Given the description of an element on the screen output the (x, y) to click on. 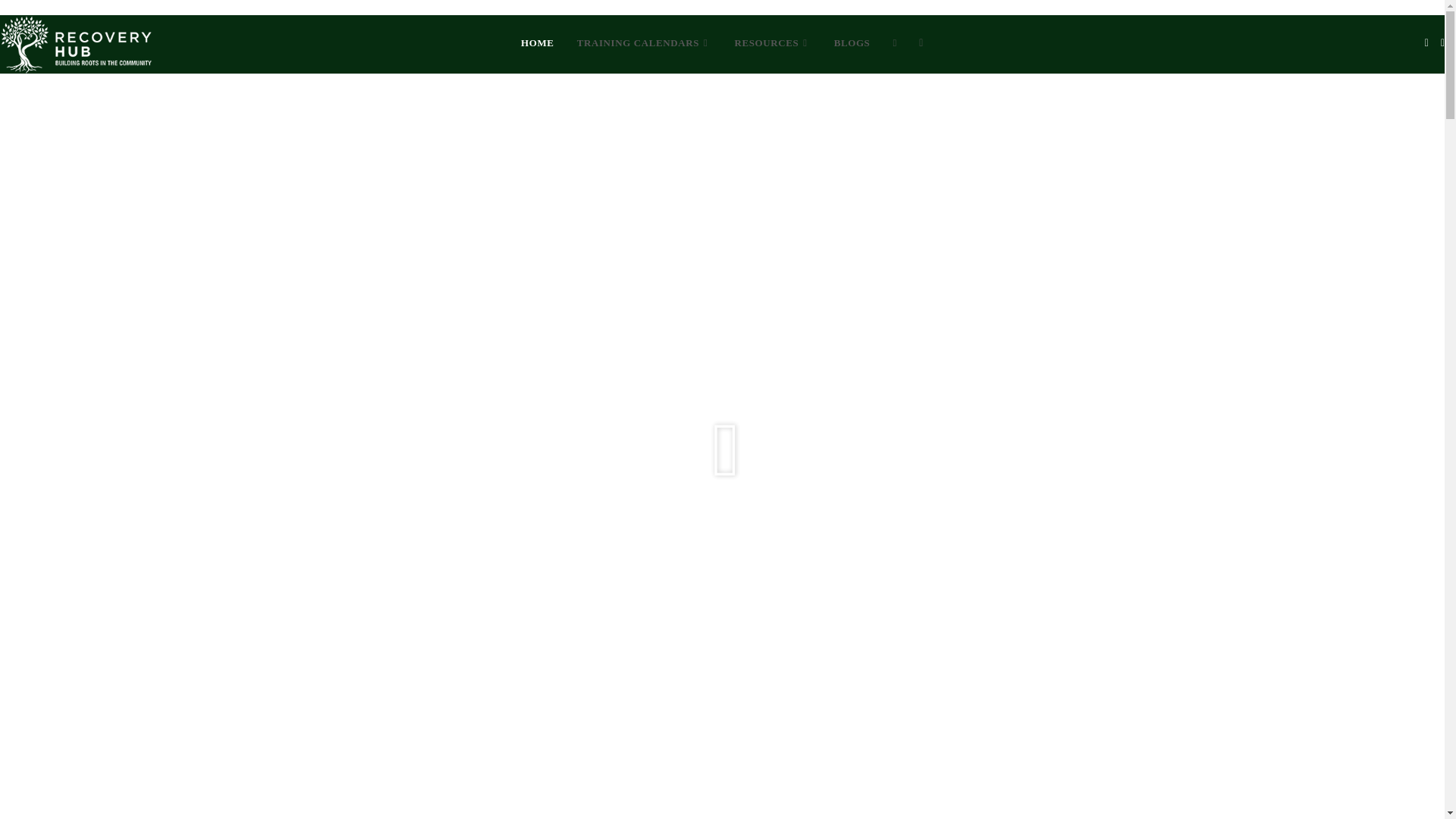
HOME (537, 43)
TRAINING CALENDARS (644, 43)
BLOGS (852, 43)
RESOURCES (772, 43)
